Given the description of an element on the screen output the (x, y) to click on. 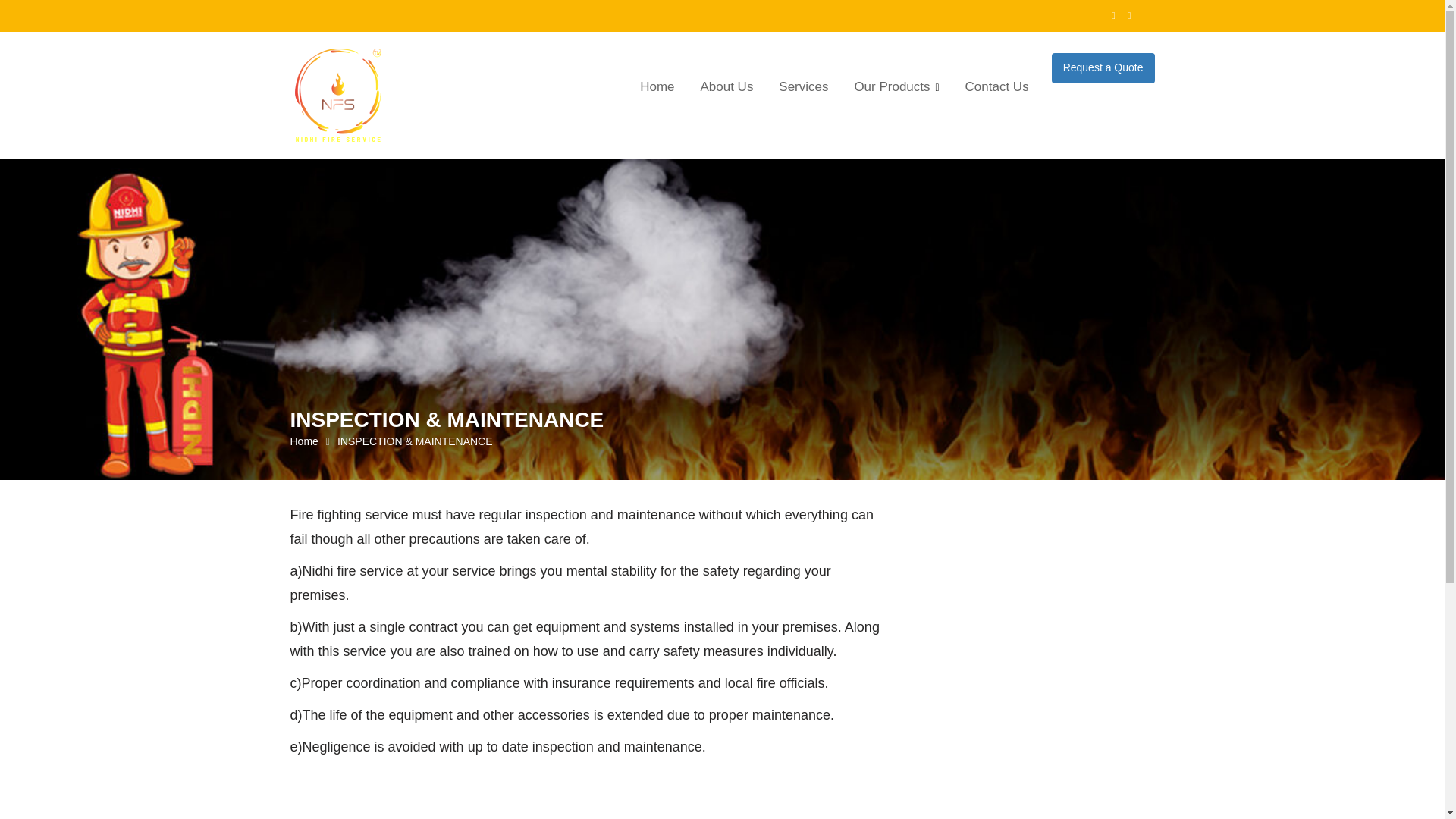
About Us (726, 86)
Request a Quote (1102, 68)
Our Products (896, 87)
Home (303, 440)
Home (656, 86)
Contact Us (997, 86)
Services (803, 86)
